Given the description of an element on the screen output the (x, y) to click on. 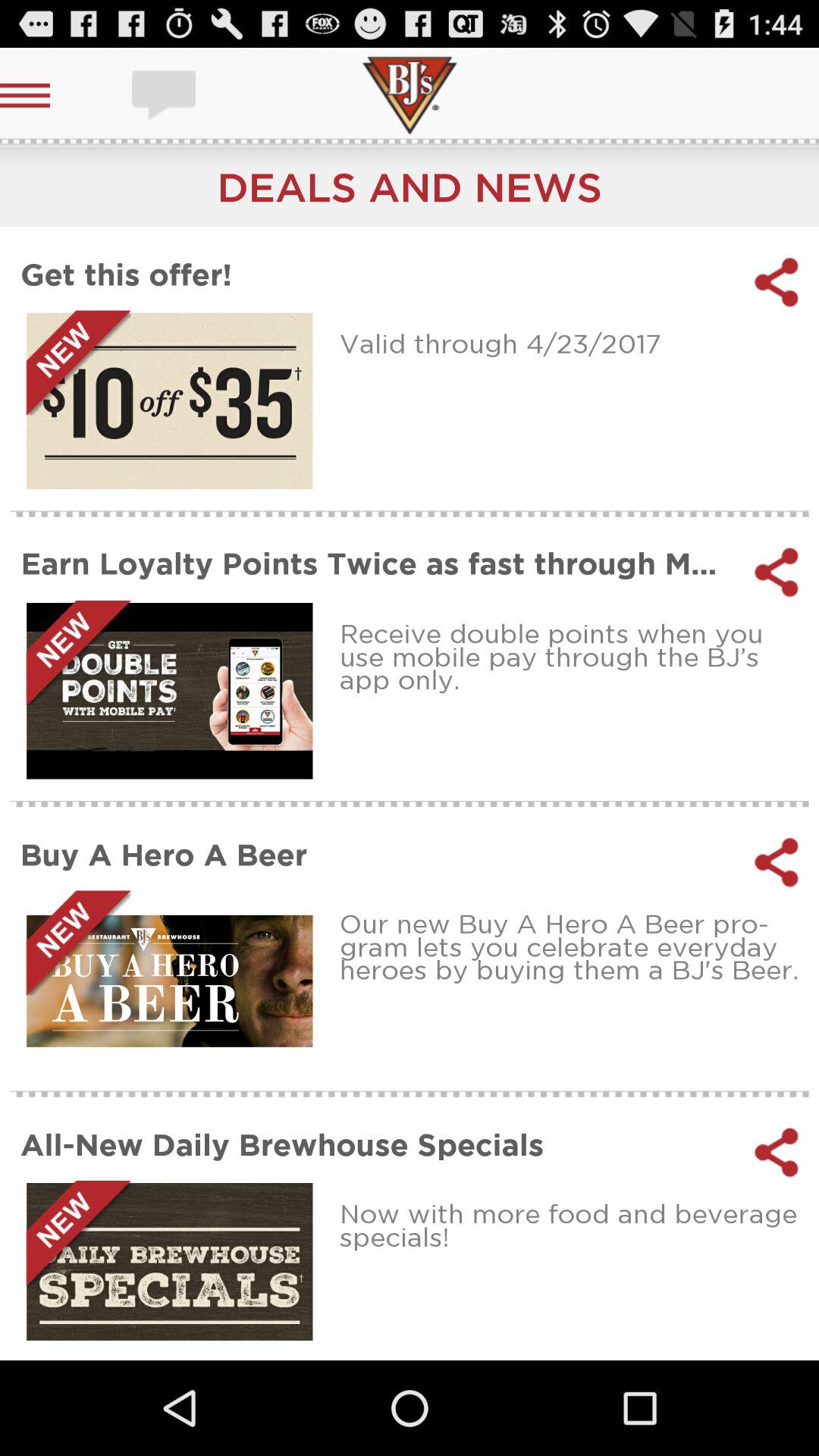
flip until get this offer! item (377, 274)
